Given the description of an element on the screen output the (x, y) to click on. 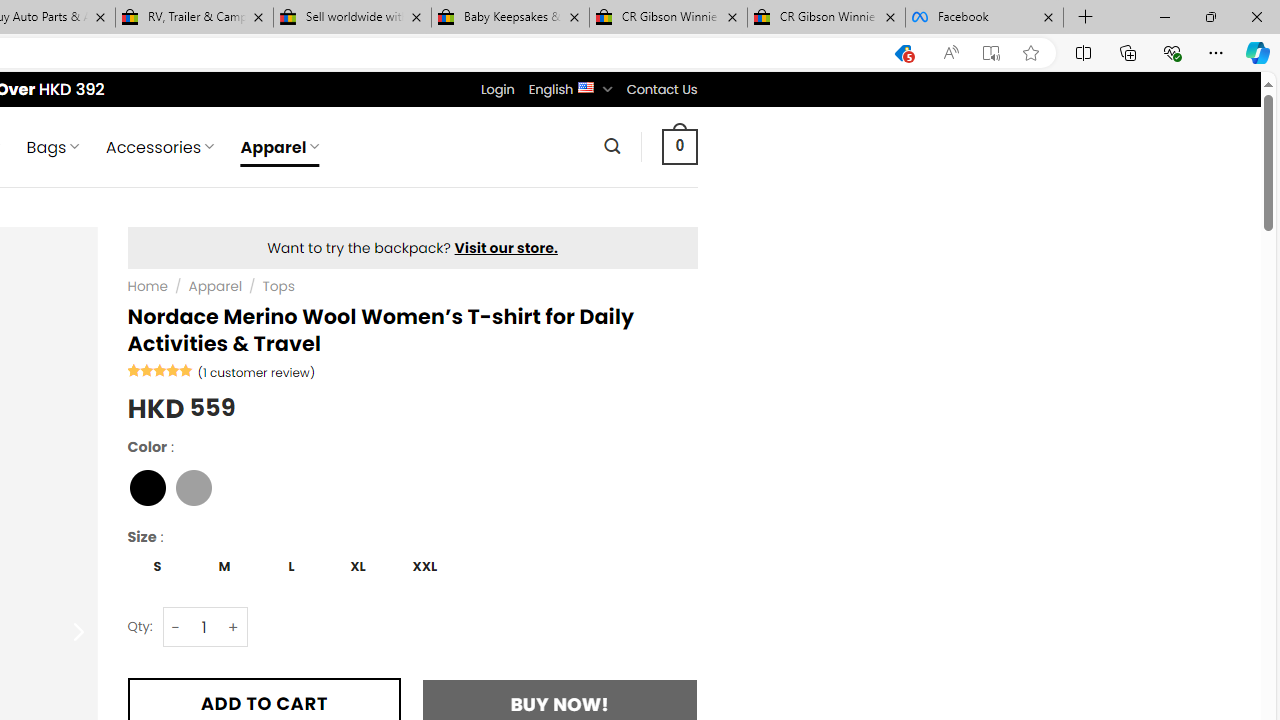
+ (234, 627)
Tops (278, 286)
Apparel (215, 286)
English (586, 86)
